Given the description of an element on the screen output the (x, y) to click on. 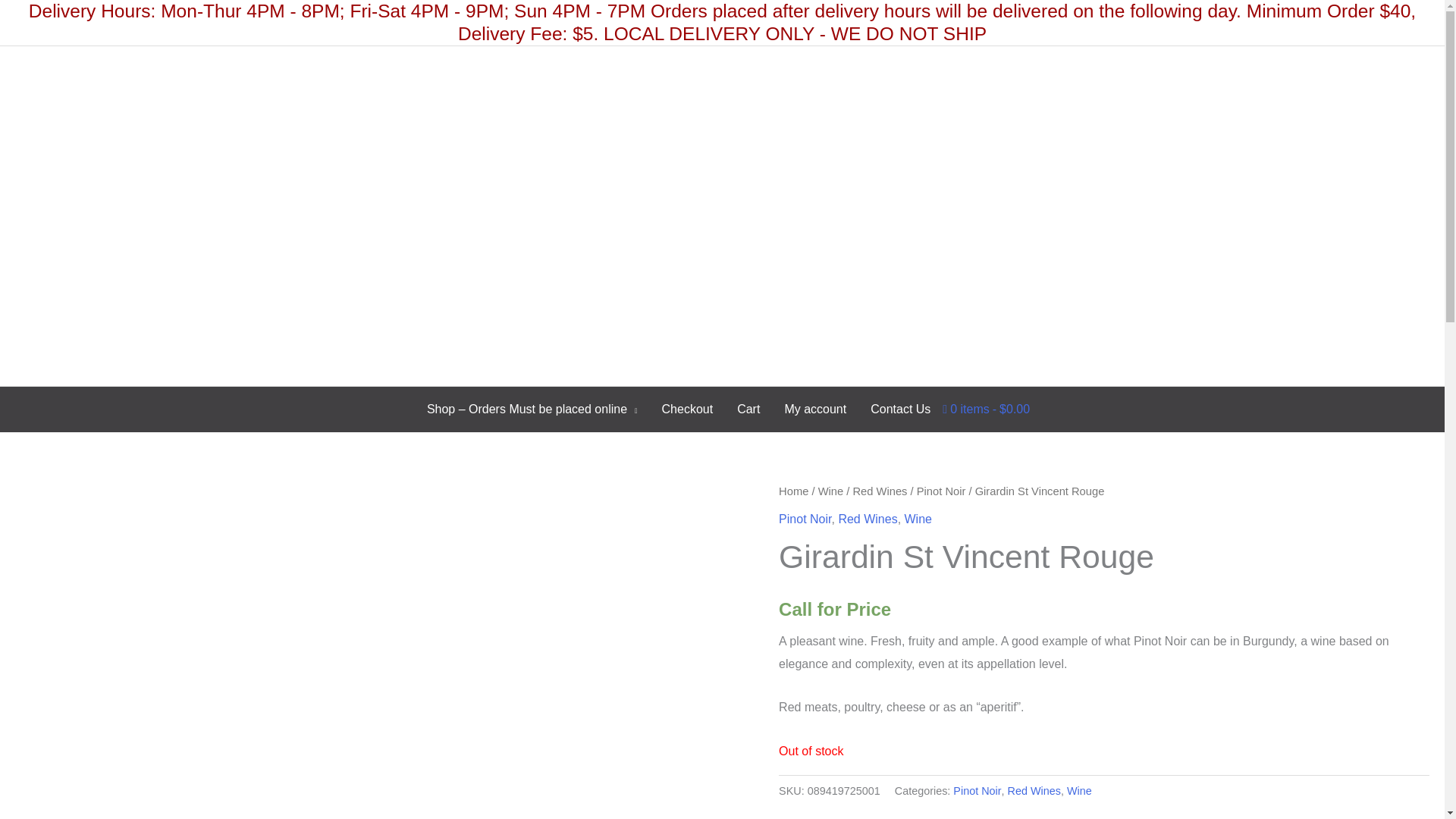
Pinot Noir (977, 790)
Cart (748, 409)
Pinot Noir (941, 491)
Start shopping (985, 408)
Checkout (687, 409)
Wine (831, 491)
Contact Us (900, 409)
Wine (1079, 790)
My account (815, 409)
Red Wines (879, 491)
Red Wines (1034, 790)
Pinot Noir (804, 518)
Red Wines (867, 518)
Wine (917, 518)
Home (793, 491)
